Given the description of an element on the screen output the (x, y) to click on. 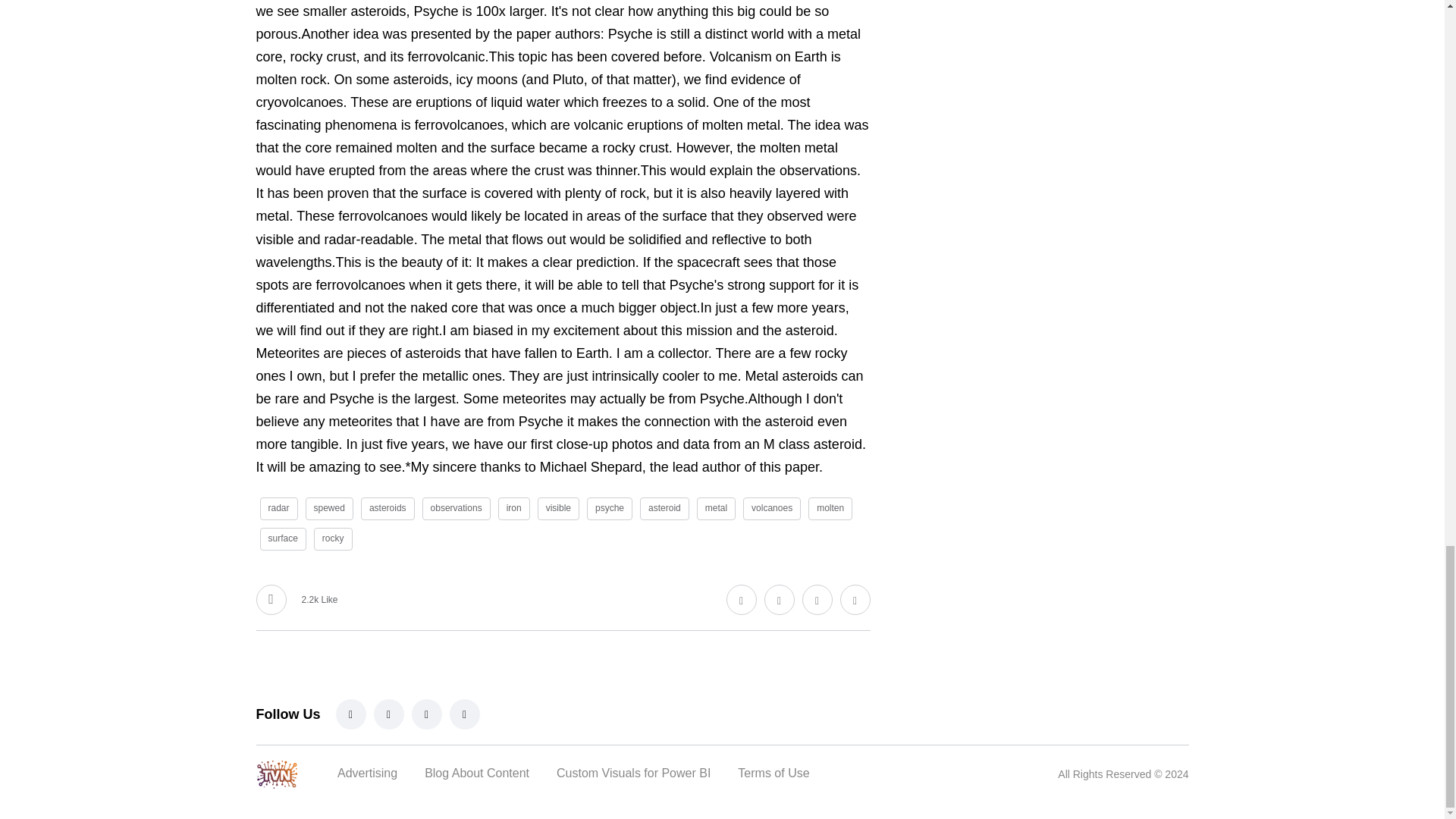
observations (456, 508)
radar (278, 508)
asteroid (664, 508)
spewed (329, 508)
rocky (333, 538)
iron (513, 508)
2.2k Like (296, 599)
volcanoes (771, 508)
psyche (608, 508)
molten (829, 508)
surface (282, 538)
metal (716, 508)
visible (558, 508)
asteroids (387, 508)
